Given the description of an element on the screen output the (x, y) to click on. 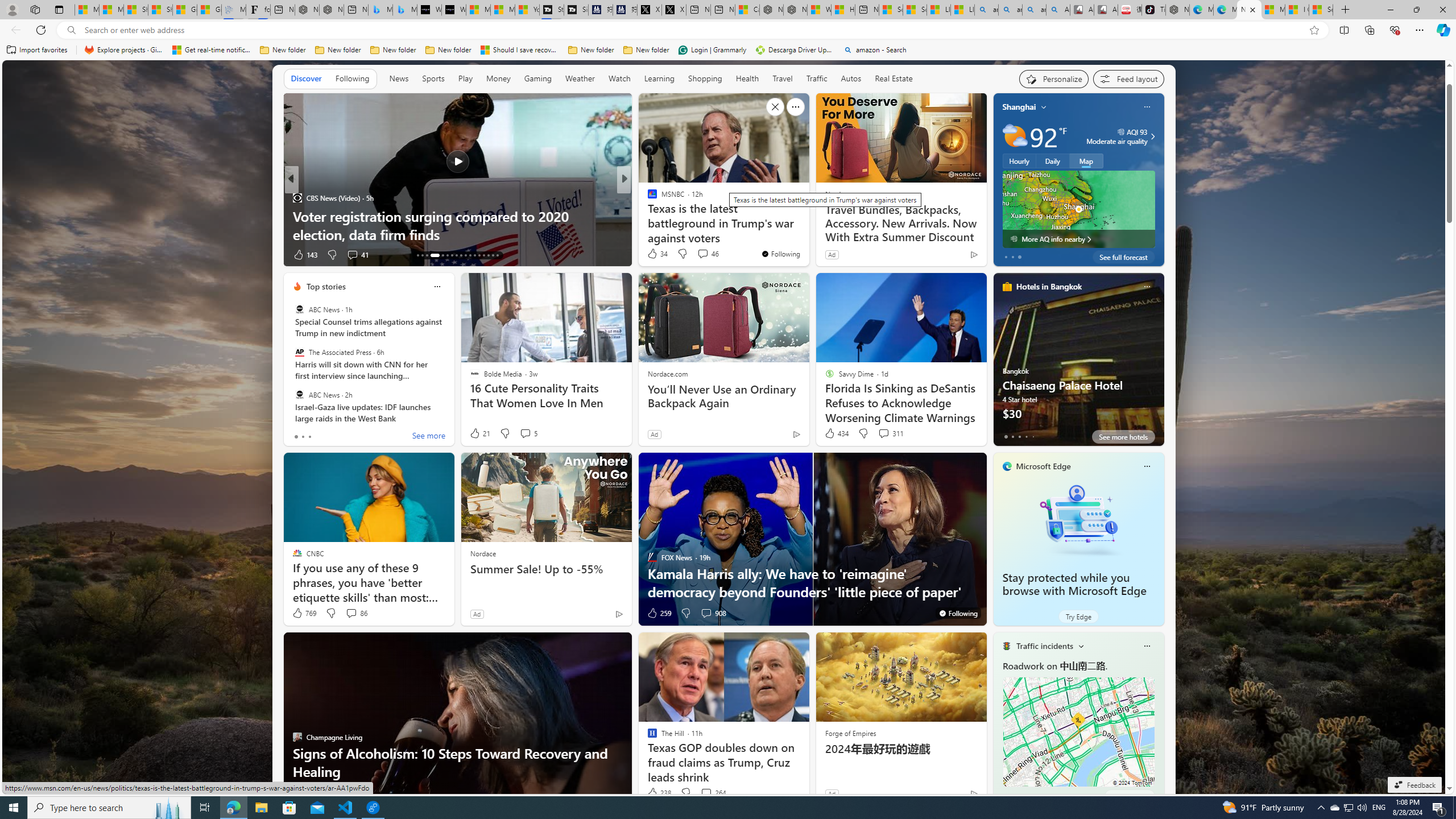
Cents + Purpose (647, 215)
Class: weather-arrow-glyph (1152, 136)
View comments 5 Comment (528, 433)
